Given the description of an element on the screen output the (x, y) to click on. 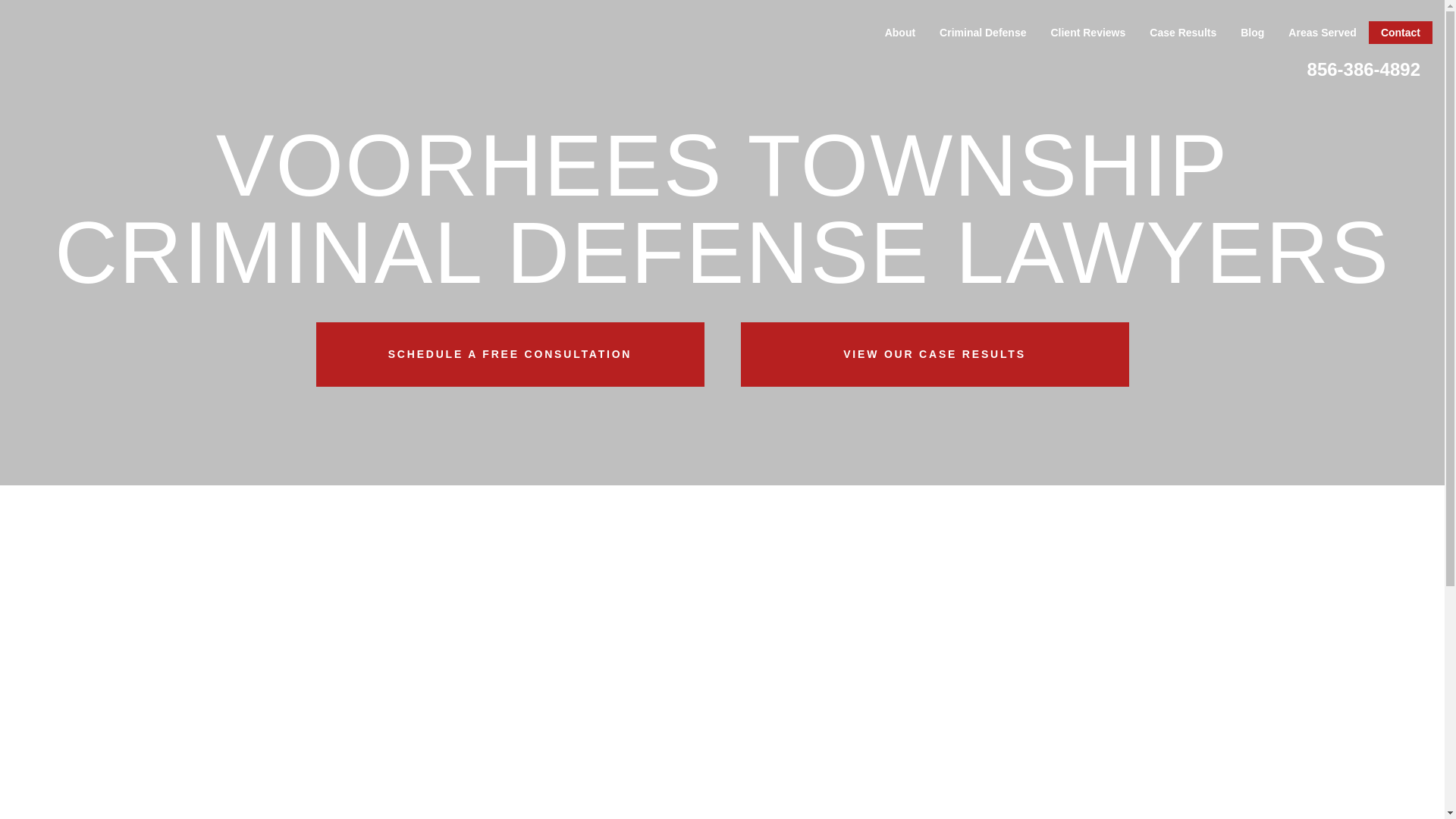
Client Reviews (1087, 32)
Blog (1252, 32)
About (899, 32)
Case Results (1182, 32)
Criminal Defense (982, 32)
Areas Served (1322, 32)
